Given the description of an element on the screen output the (x, y) to click on. 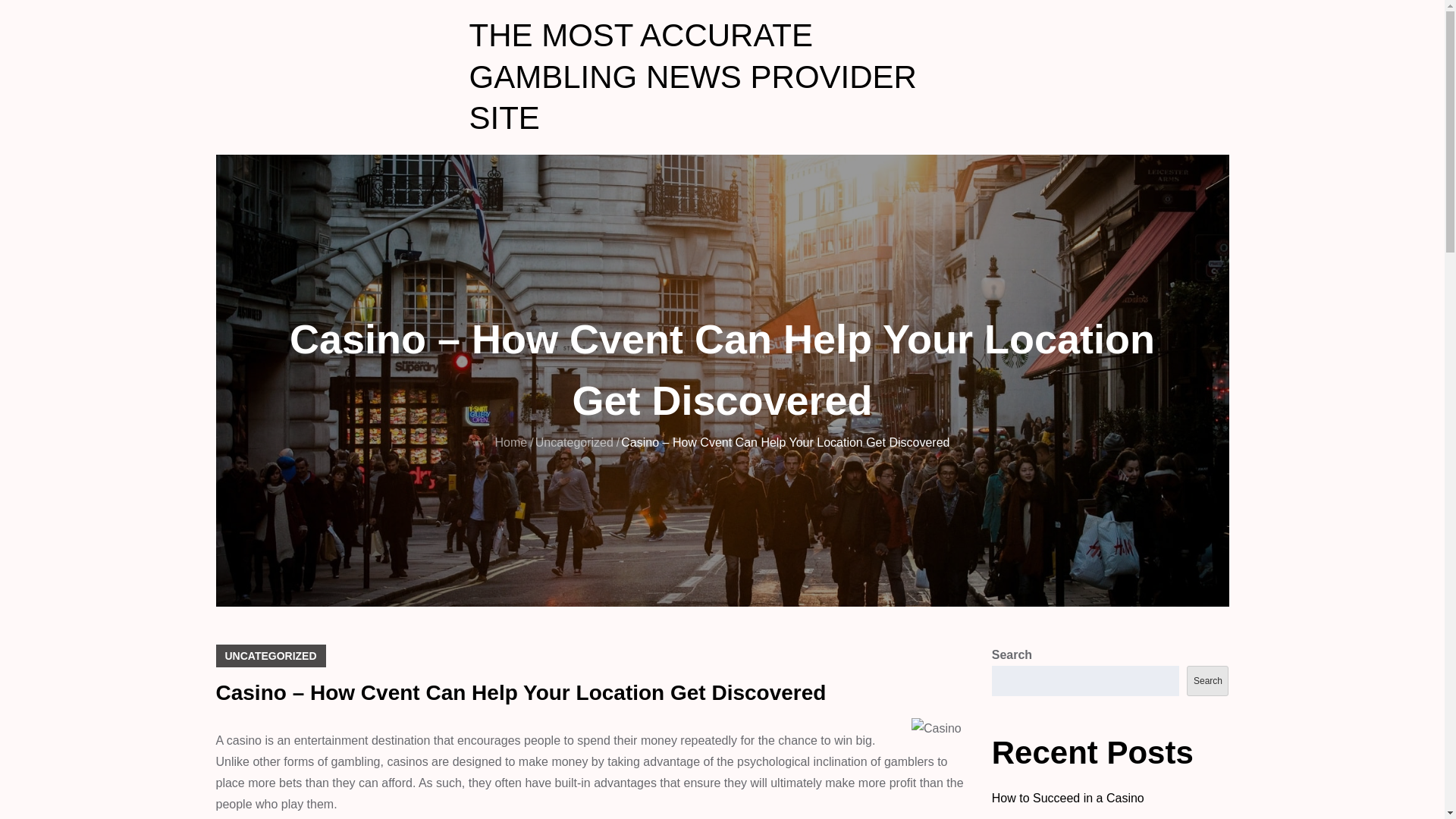
Home (511, 440)
Search (1207, 680)
THE MOST ACCURATE GAMBLING NEWS PROVIDER SITE (691, 76)
How to Succeed in a Casino (1067, 797)
UNCATEGORIZED (269, 655)
Uncategorized (573, 440)
